Given the description of an element on the screen output the (x, y) to click on. 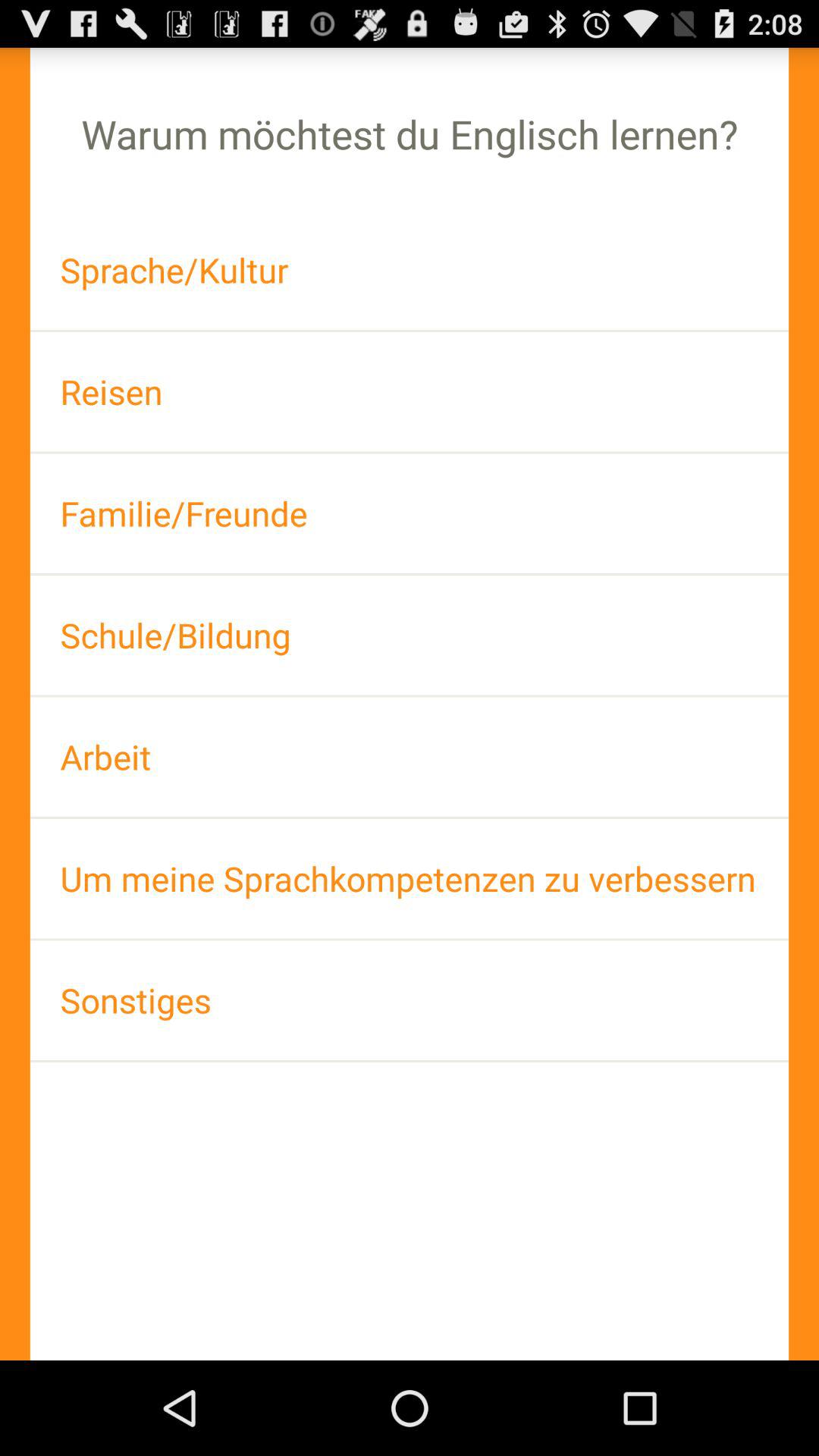
select the reisen app (409, 391)
